Given the description of an element on the screen output the (x, y) to click on. 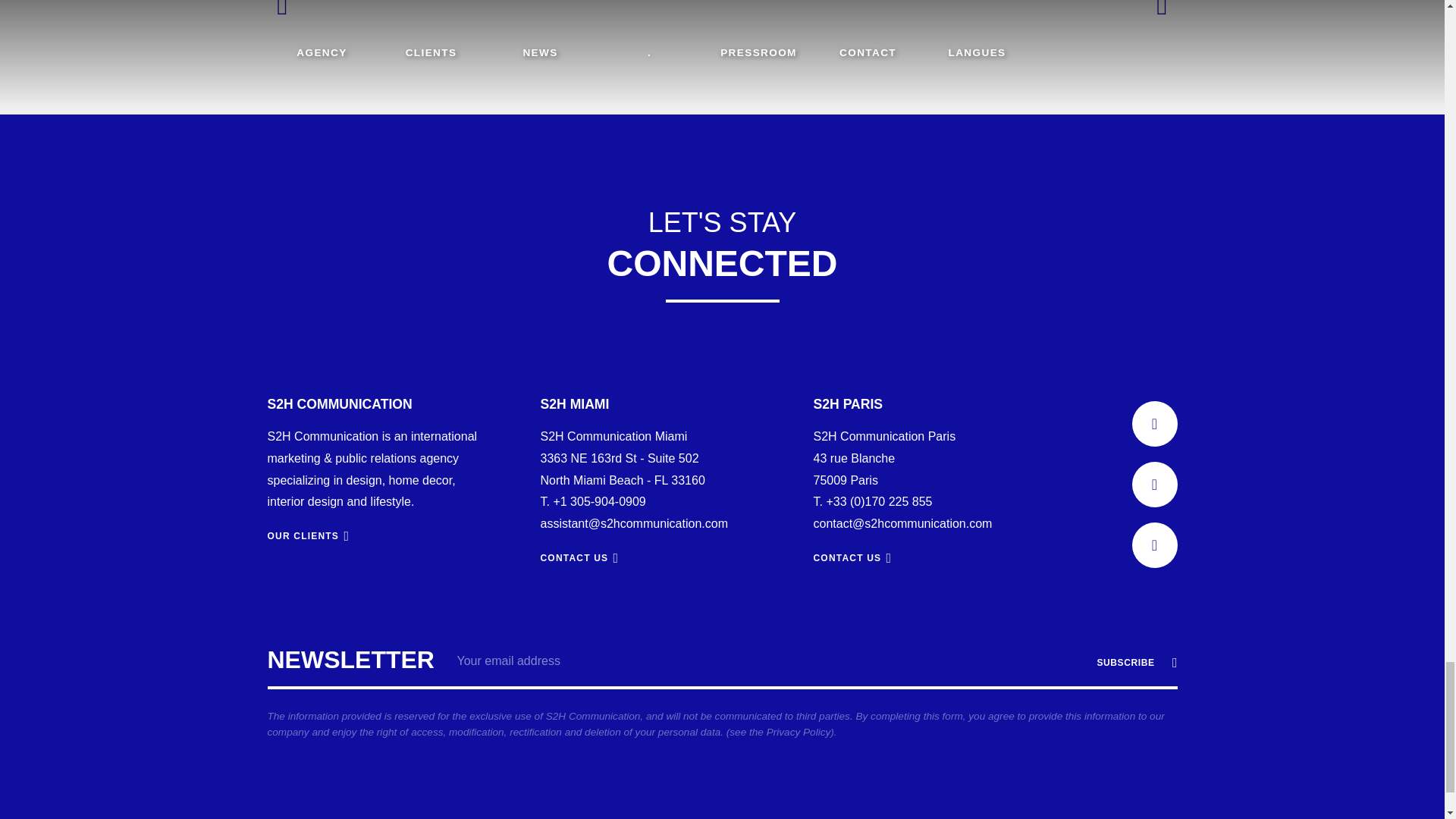
Subscribe (1132, 662)
Subscribe (1132, 662)
CLIENT SUIVANT (1157, 11)
OUR CLIENTS (308, 535)
Sign up to our newsletter (721, 697)
Instagram (1153, 545)
CONTACT US (852, 557)
Privacy Policy (799, 731)
Facebook (1153, 483)
CONTACT US (580, 557)
Linkedin (1153, 423)
